Given the description of an element on the screen output the (x, y) to click on. 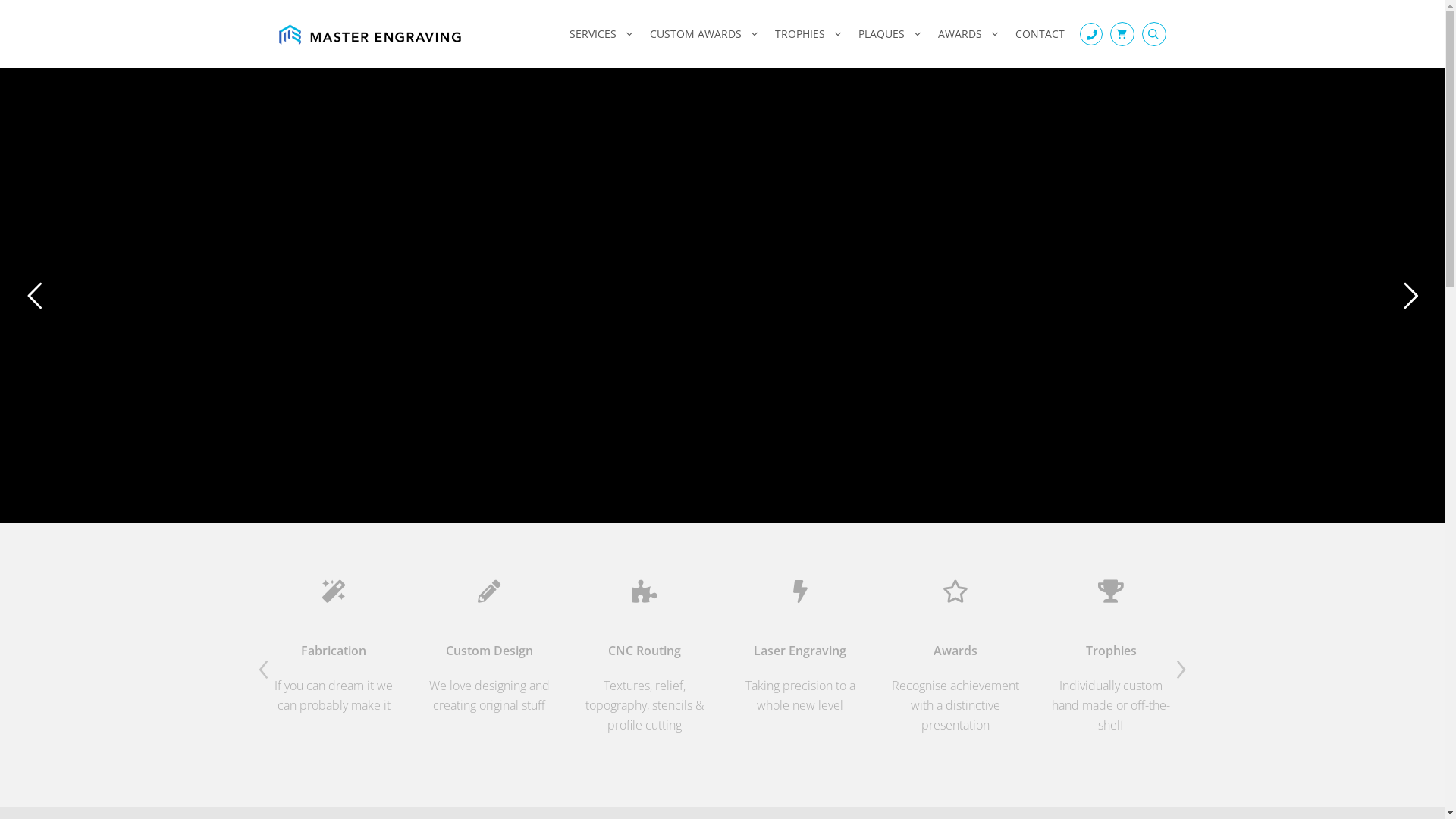
CONTACT Element type: text (1039, 34)
PLAQUES Element type: text (890, 34)
Previous Element type: text (263, 664)
TROPHIES Element type: text (808, 34)
View your shopping cart Element type: hover (1122, 33)
CUSTOM AWARDS Element type: text (703, 34)
Next Element type: text (1181, 664)
AWARDS Element type: text (968, 34)
SERVICES Element type: text (601, 34)
